Given the description of an element on the screen output the (x, y) to click on. 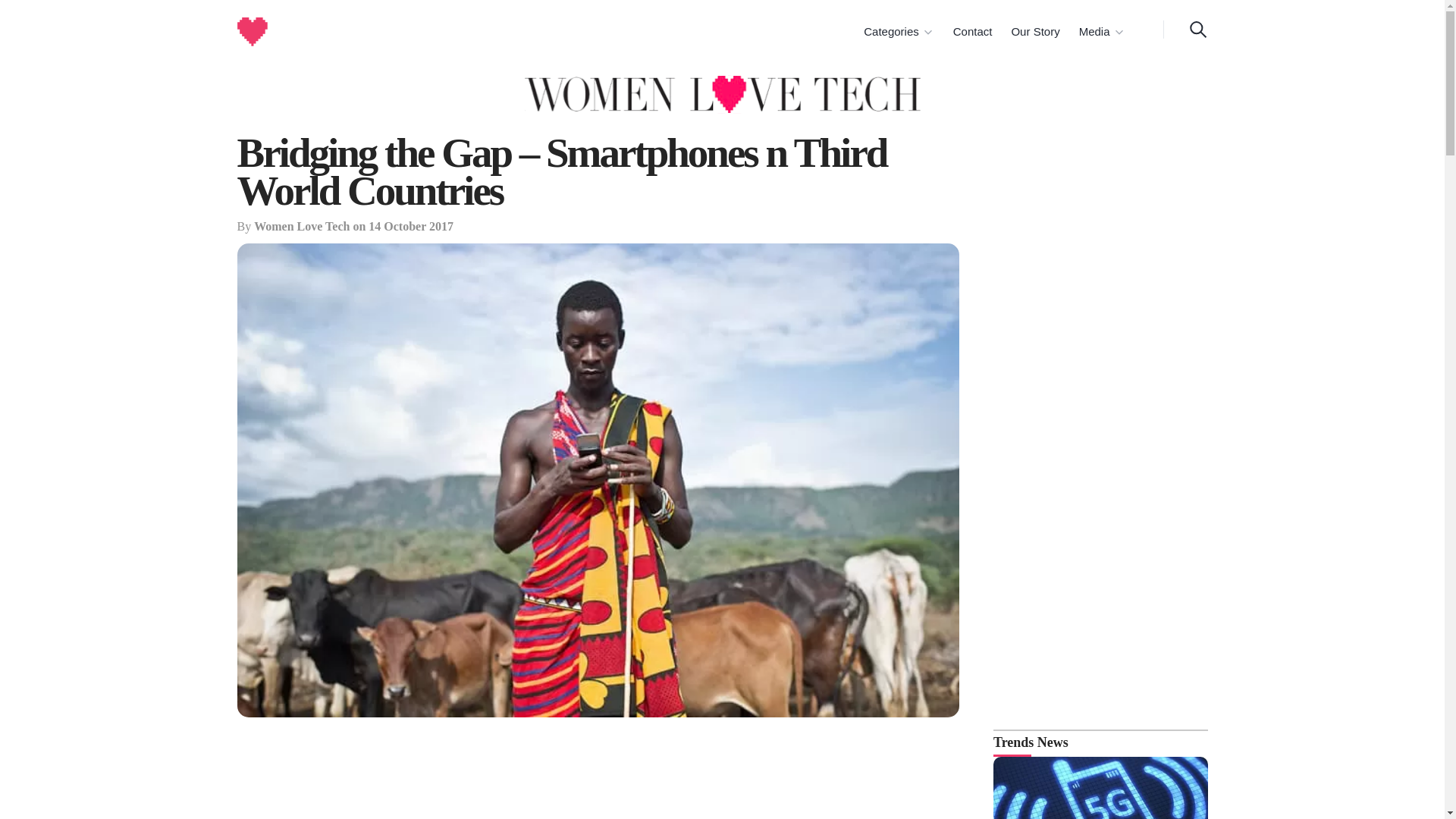
Contact (970, 31)
Women Love Tech (301, 226)
Advertisement (597, 777)
Our Story (1033, 31)
Media (1101, 31)
Categories (897, 31)
